Given the description of an element on the screen output the (x, y) to click on. 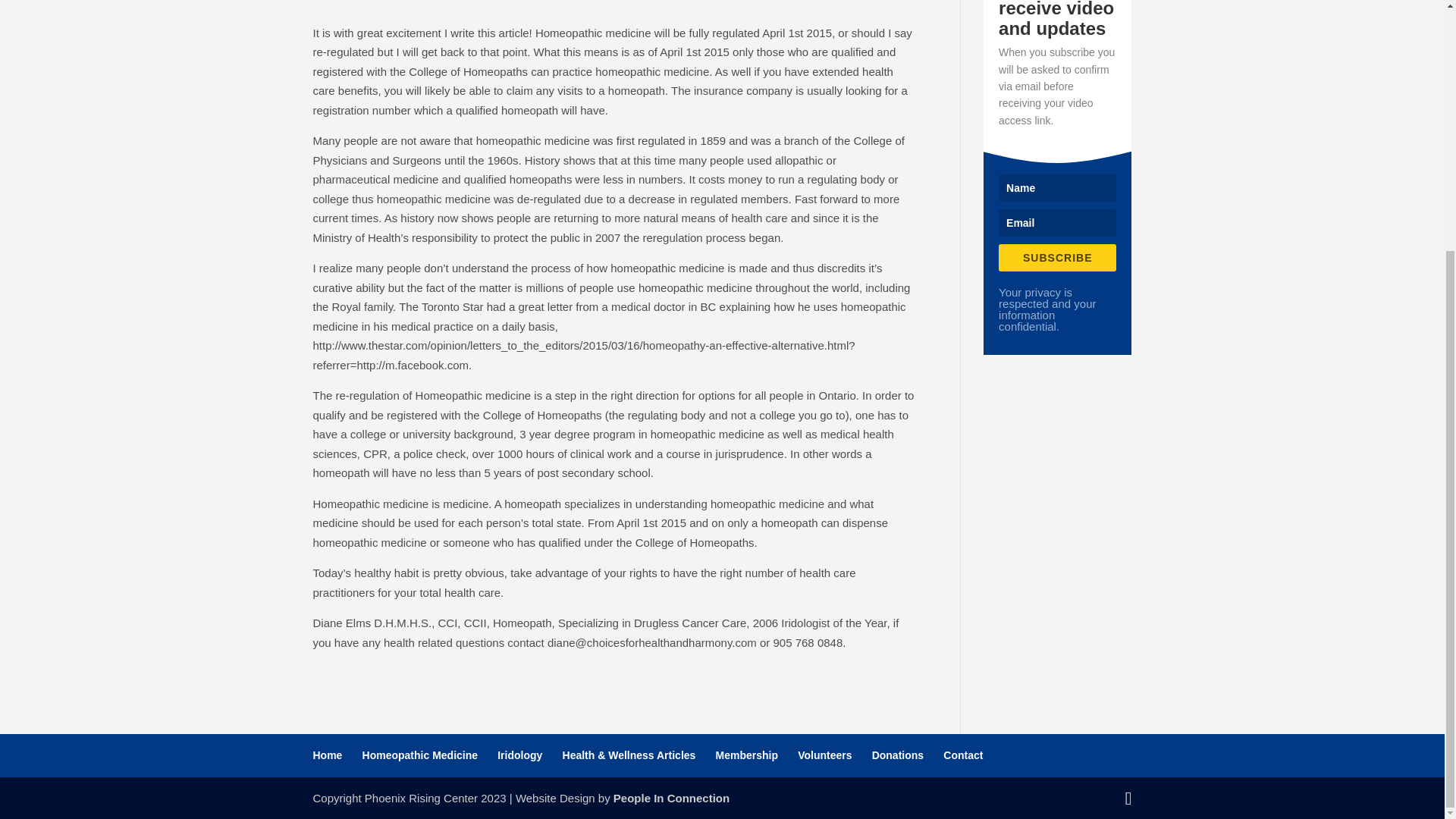
Membership (746, 755)
Volunteers (824, 755)
Homeopathic Medicine (419, 755)
Contact (962, 755)
Home (327, 755)
People In Connection (670, 797)
Donations (897, 755)
SUBSCRIBE (1057, 257)
Iridology (519, 755)
